Given the description of an element on the screen output the (x, y) to click on. 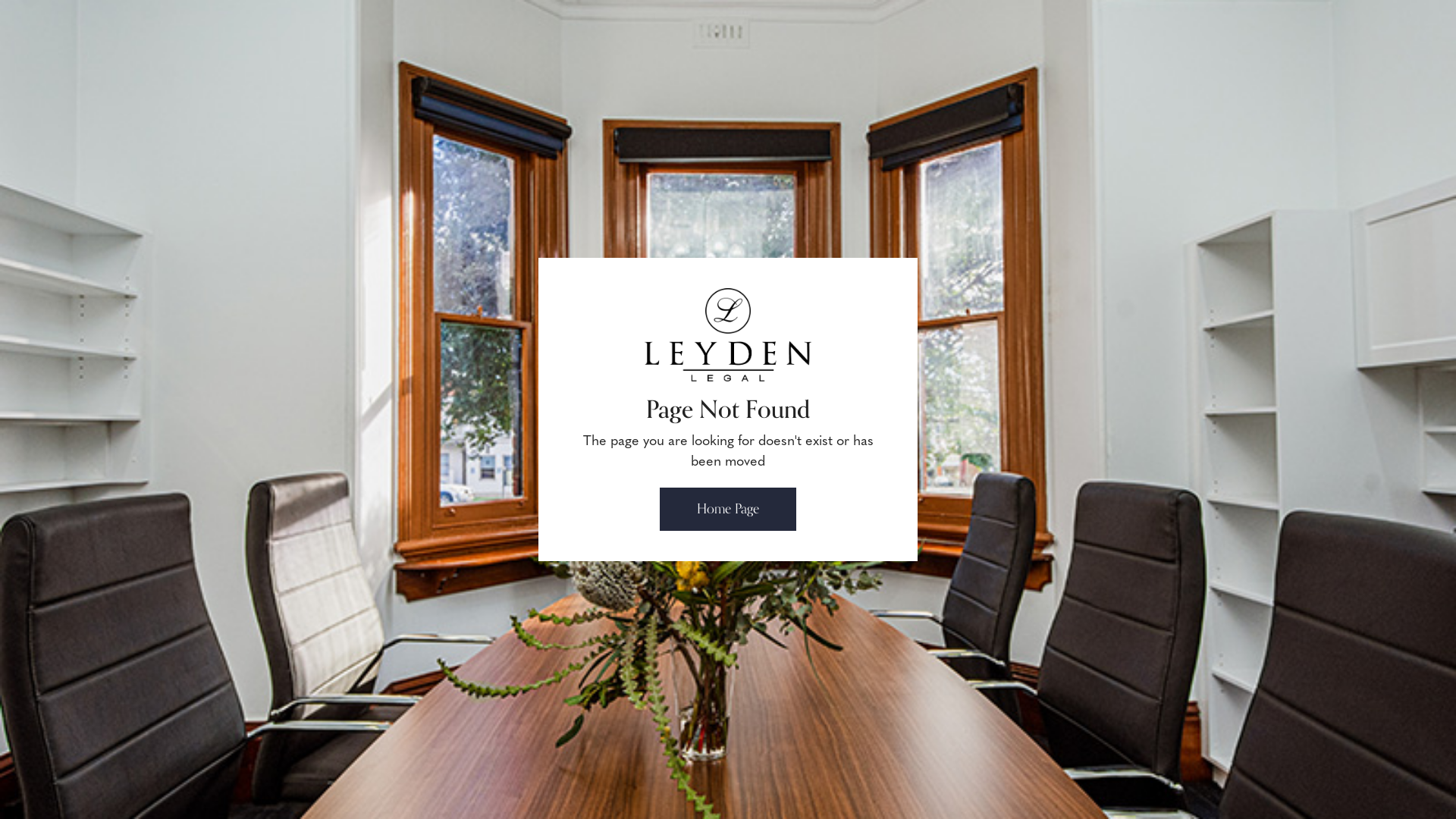
Home Page Element type: text (727, 508)
